Given the description of an element on the screen output the (x, y) to click on. 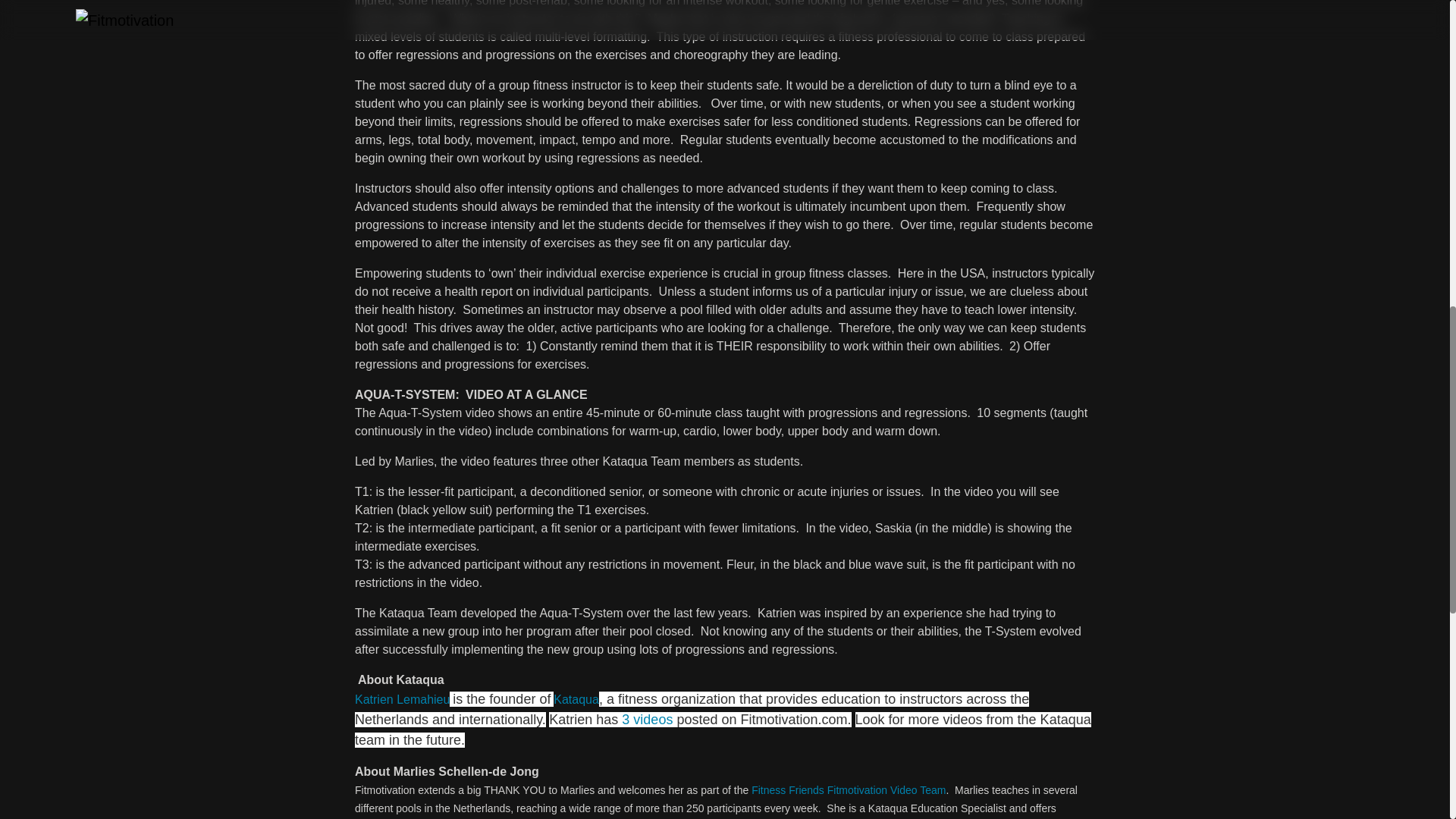
3 videos (646, 719)
Fitness Friends Fitmotivation Video Team (847, 789)
Katrien Lemahieu (402, 698)
Kataqua (575, 698)
